Given the description of an element on the screen output the (x, y) to click on. 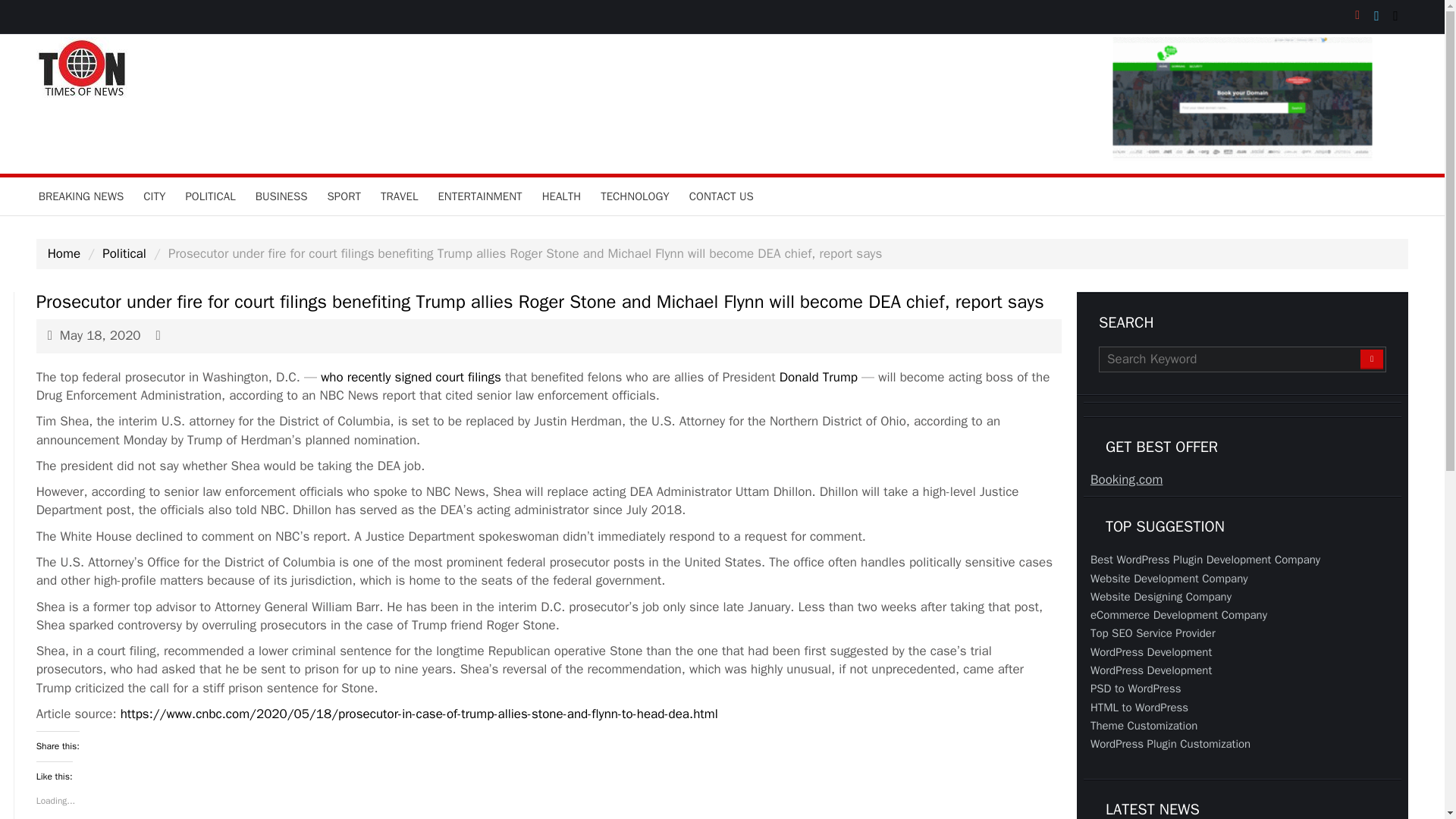
Twitter (1381, 16)
BREAKING NEWS (81, 196)
Home (64, 253)
tumblr (1400, 16)
Best WordPress Plugin Development Company (1205, 559)
HEALTH (561, 196)
Political (124, 253)
SPORT (344, 196)
TECHNOLOGY (635, 196)
Booking.com (1125, 479)
